Given the description of an element on the screen output the (x, y) to click on. 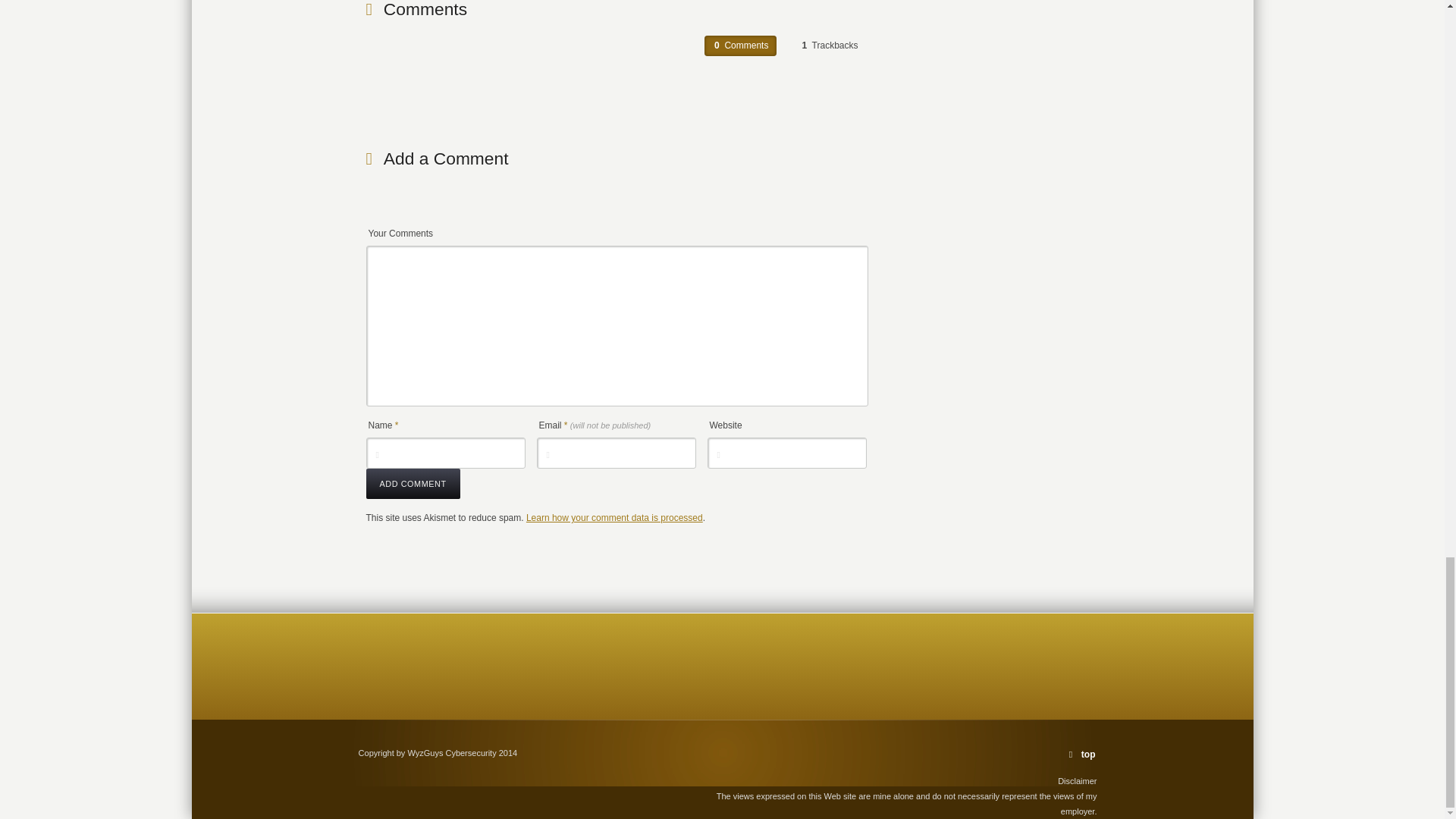
Add Comment (412, 483)
